Given the description of an element on the screen output the (x, y) to click on. 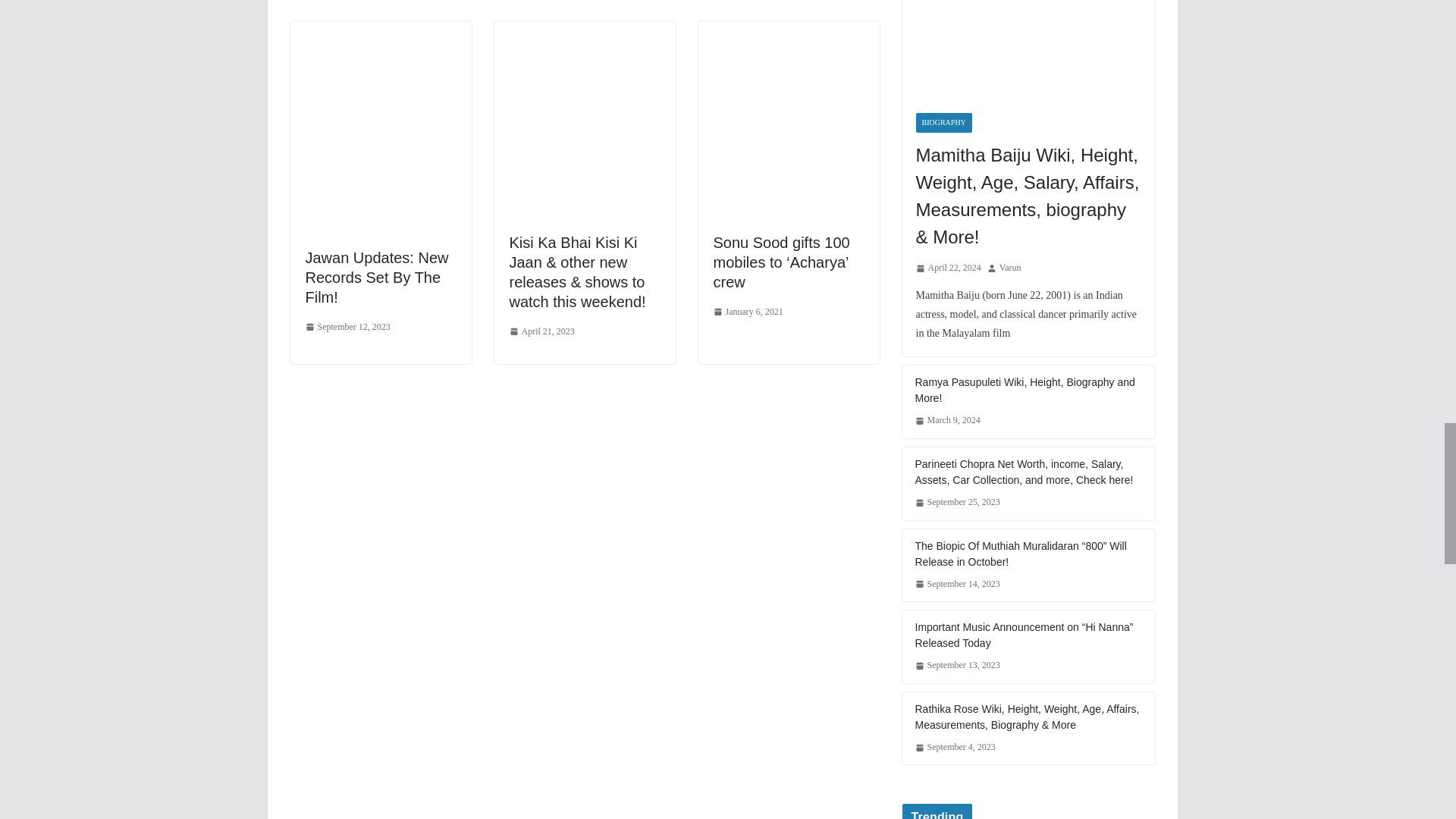
Jawan Updates: New Records Set By The Film! (379, 61)
September 12, 2023 (347, 327)
Jawan Updates: New Records Set By The Film! (376, 277)
3:22 PM (542, 331)
5:05 PM (347, 327)
Jawan Updates: New Records Set By The Film! (376, 277)
